Given the description of an element on the screen output the (x, y) to click on. 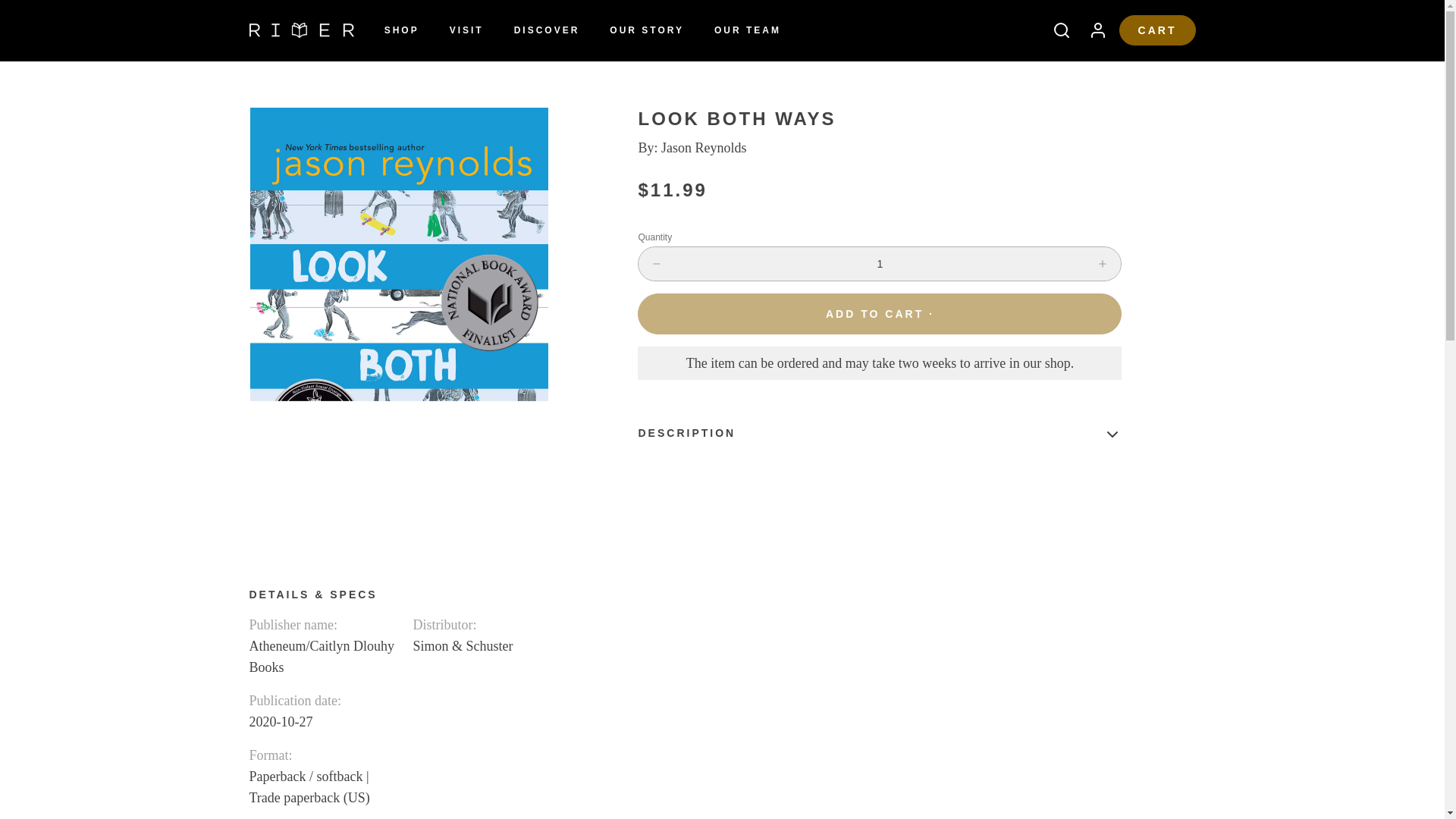
Increase quantity (1102, 263)
 Log in (1091, 30)
River Bookshop (300, 29)
DISCOVER (547, 30)
VISIT (467, 30)
Search (1055, 30)
CART (1157, 30)
OUR STORY (645, 30)
1 (879, 263)
SHOP (401, 30)
OUR TEAM (747, 30)
Decrease quantity (657, 263)
